Given the description of an element on the screen output the (x, y) to click on. 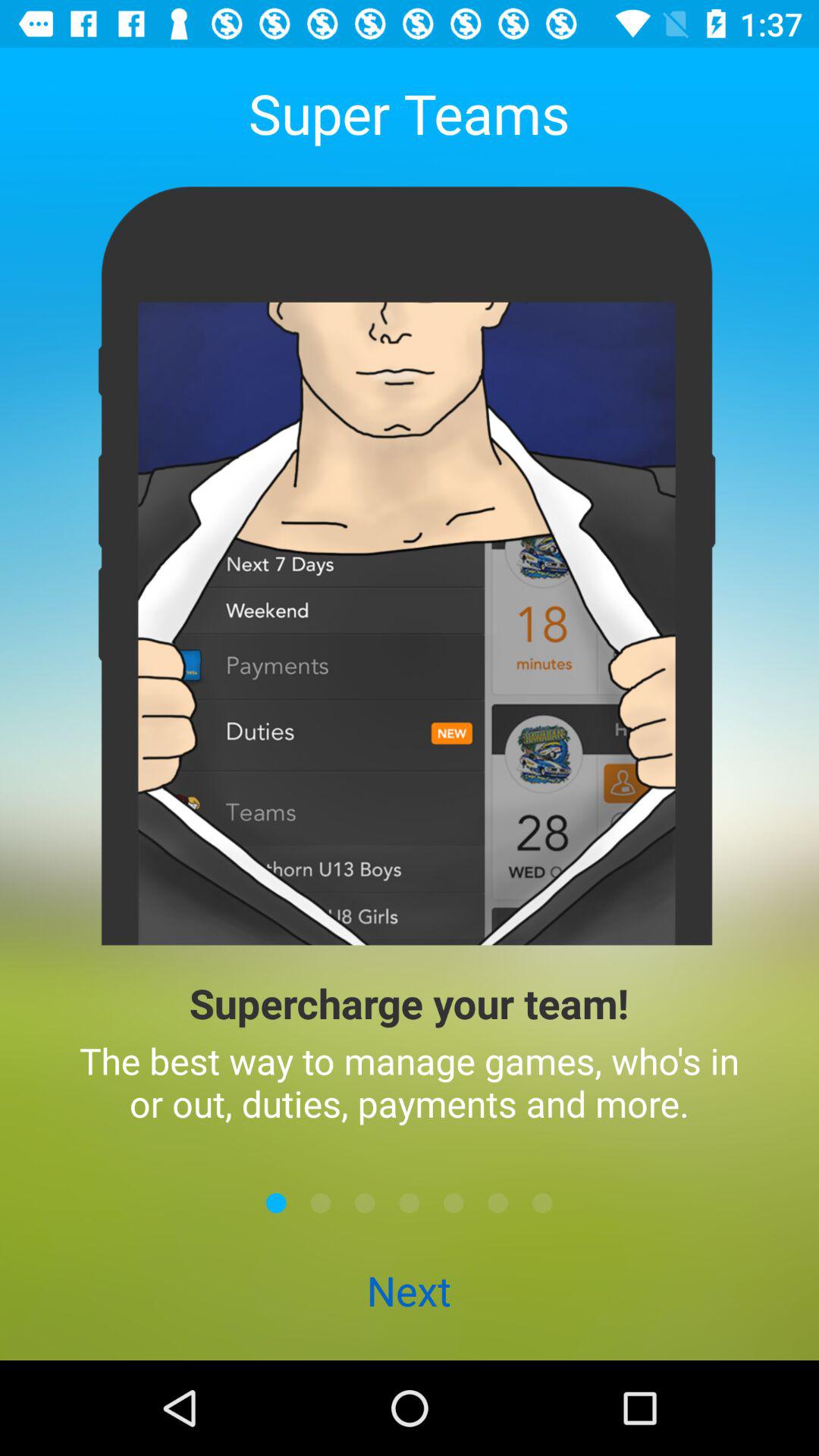
go to last panel (542, 1203)
